Given the description of an element on the screen output the (x, y) to click on. 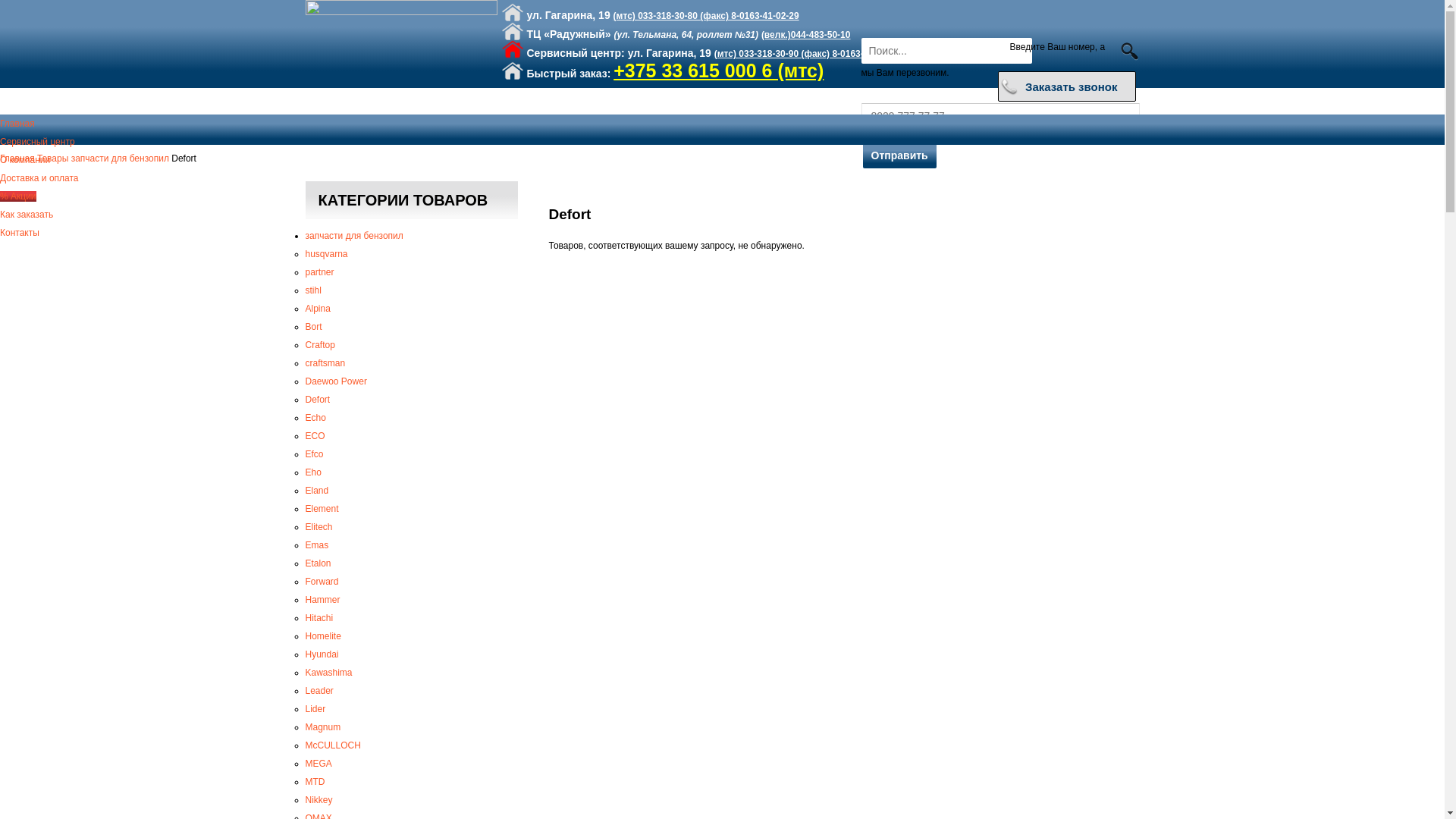
Emas Element type: text (316, 544)
Defort Element type: text (316, 399)
Element Element type: text (321, 508)
Daewoo Power Element type: text (335, 381)
Eland Element type: text (316, 490)
McCULLOCH Element type: text (332, 745)
Homelite Element type: text (322, 635)
partner Element type: text (318, 271)
Forward Element type: text (321, 581)
Leader Element type: text (318, 690)
Efco Element type: text (313, 453)
MTD Element type: text (314, 781)
Kawashima Element type: text (327, 672)
Hyundai Element type: text (321, 654)
MEGA Element type: text (317, 763)
husqvarna Element type: text (325, 253)
Bort Element type: text (312, 326)
Craftop Element type: text (319, 344)
craftsman Element type: text (324, 362)
Lider Element type: text (314, 708)
Hitachi Element type: text (318, 617)
Magnum Element type: text (322, 726)
Hammer Element type: text (321, 599)
stihl Element type: text (312, 290)
Alpina Element type: text (316, 308)
Etalon Element type: text (317, 563)
Eho Element type: text (312, 472)
Echo Element type: text (314, 417)
ECO Element type: text (314, 435)
Nikkey Element type: text (318, 799)
Elitech Element type: text (318, 526)
